Given the description of an element on the screen output the (x, y) to click on. 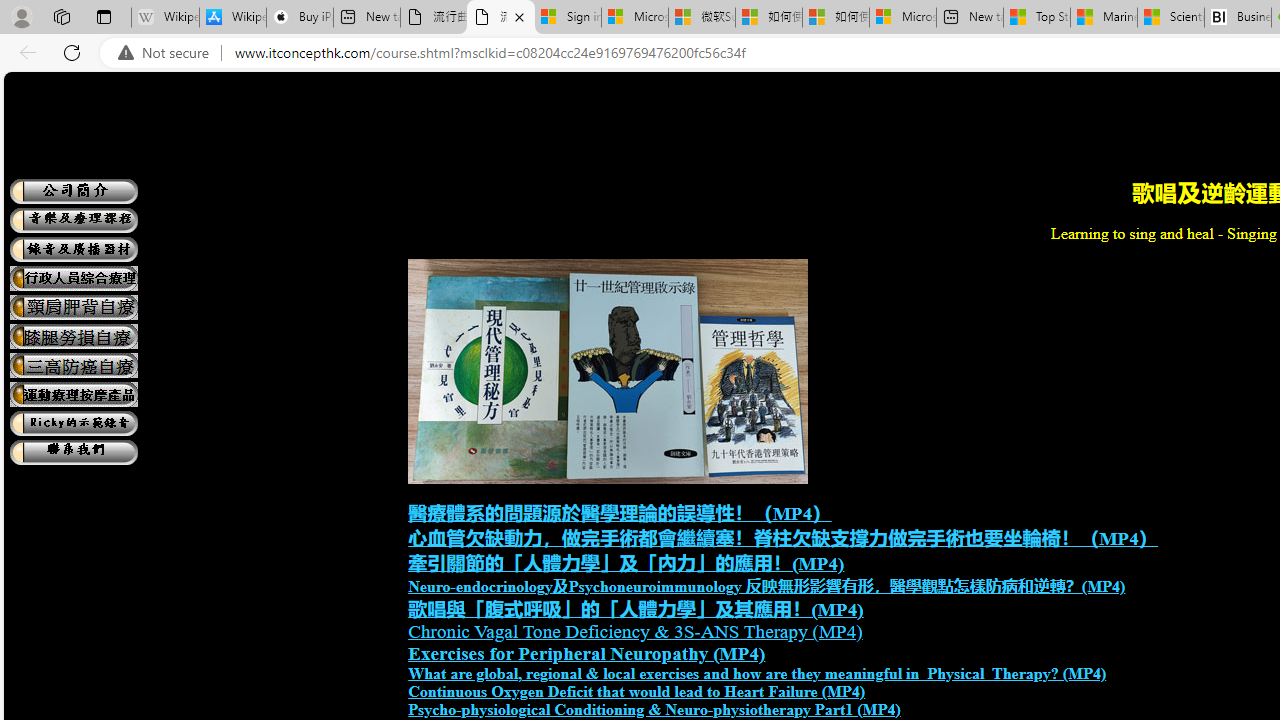
Exercises for Peripheral Neuropathy (MP4) (586, 653)
